Given the description of an element on the screen output the (x, y) to click on. 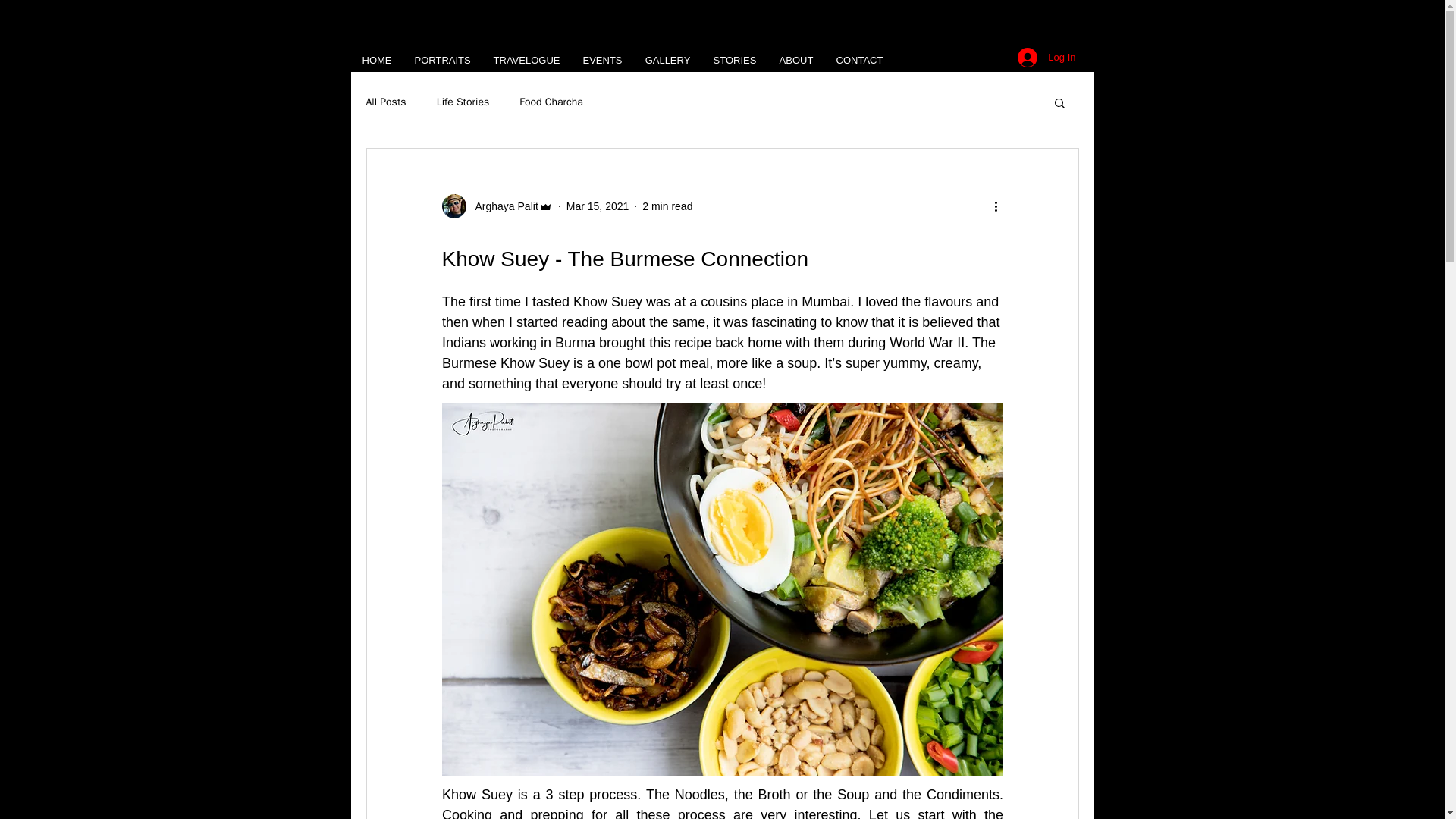
Mar 15, 2021 (597, 205)
HOME (376, 60)
TRAVELOGUE (526, 60)
PORTRAITS (442, 60)
Food Charcha (551, 101)
CONTACT (860, 60)
EVENTS (602, 60)
2 min read (667, 205)
STORIES (734, 60)
Arghaya Palit (496, 206)
Arghaya Palit (501, 206)
Life Stories (462, 101)
ABOUT (795, 60)
GALLERY (667, 60)
All Posts (385, 101)
